Given the description of an element on the screen output the (x, y) to click on. 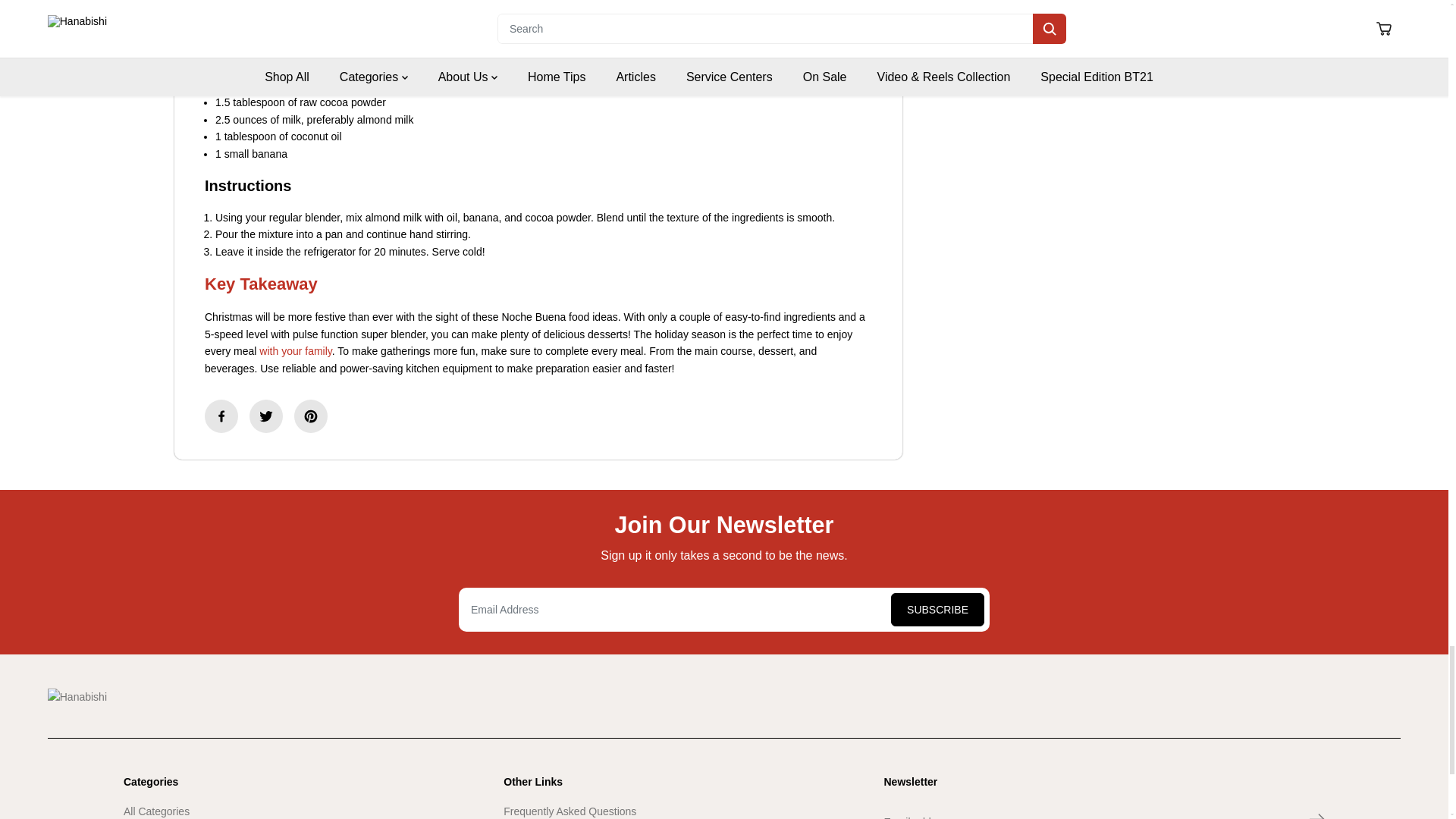
Pinterest (310, 416)
Twitter (265, 416)
Facebook (221, 416)
